Given the description of an element on the screen output the (x, y) to click on. 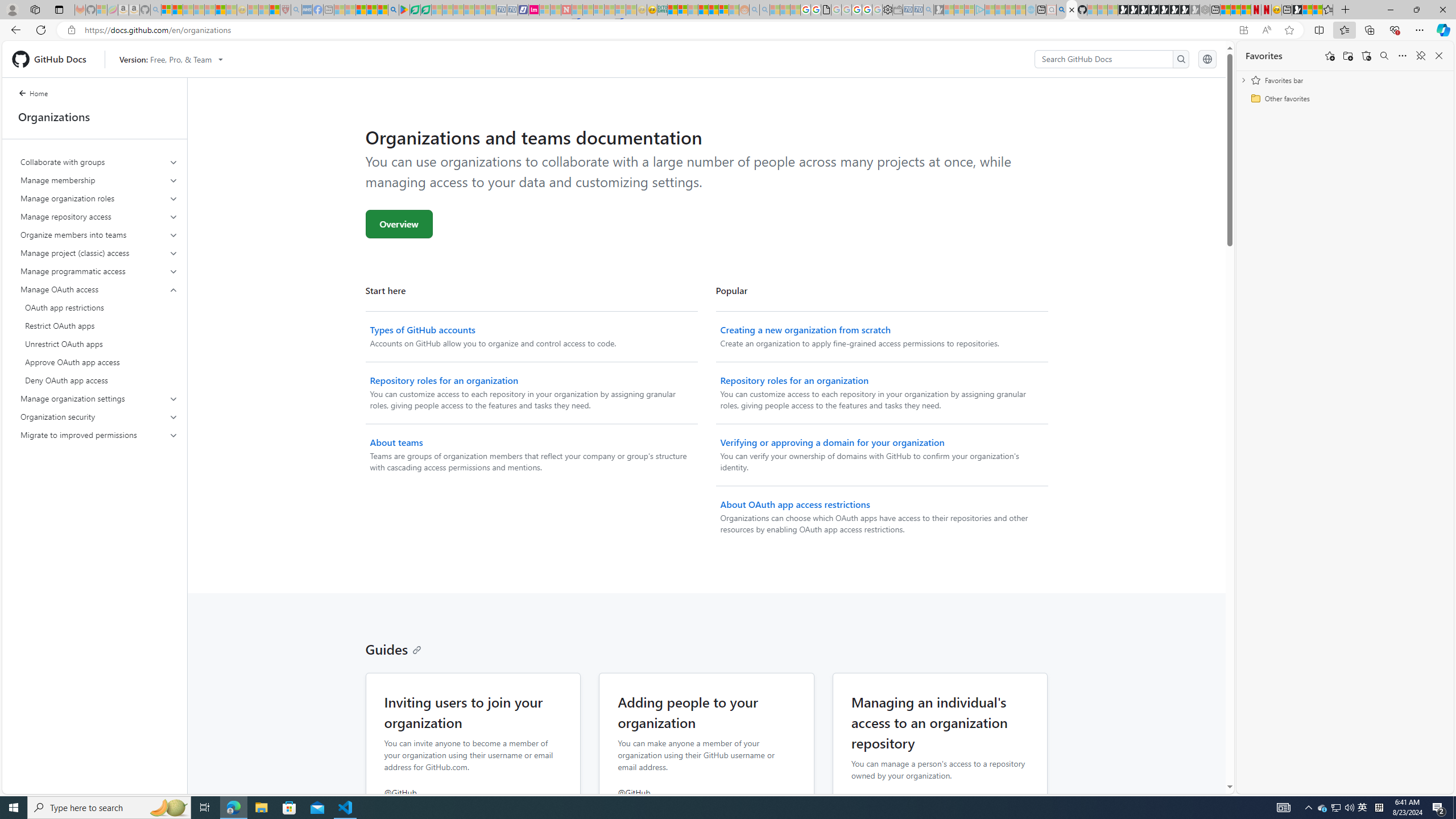
Microsoft Start Gaming - Sleeping (938, 9)
Local - MSN (274, 9)
Manage organization settings (99, 398)
Manage project (classic) access (99, 253)
Organize members into teams (99, 235)
Manage OAuth access (99, 334)
Deny OAuth app access (99, 380)
Manage membership (99, 180)
